Given the description of an element on the screen output the (x, y) to click on. 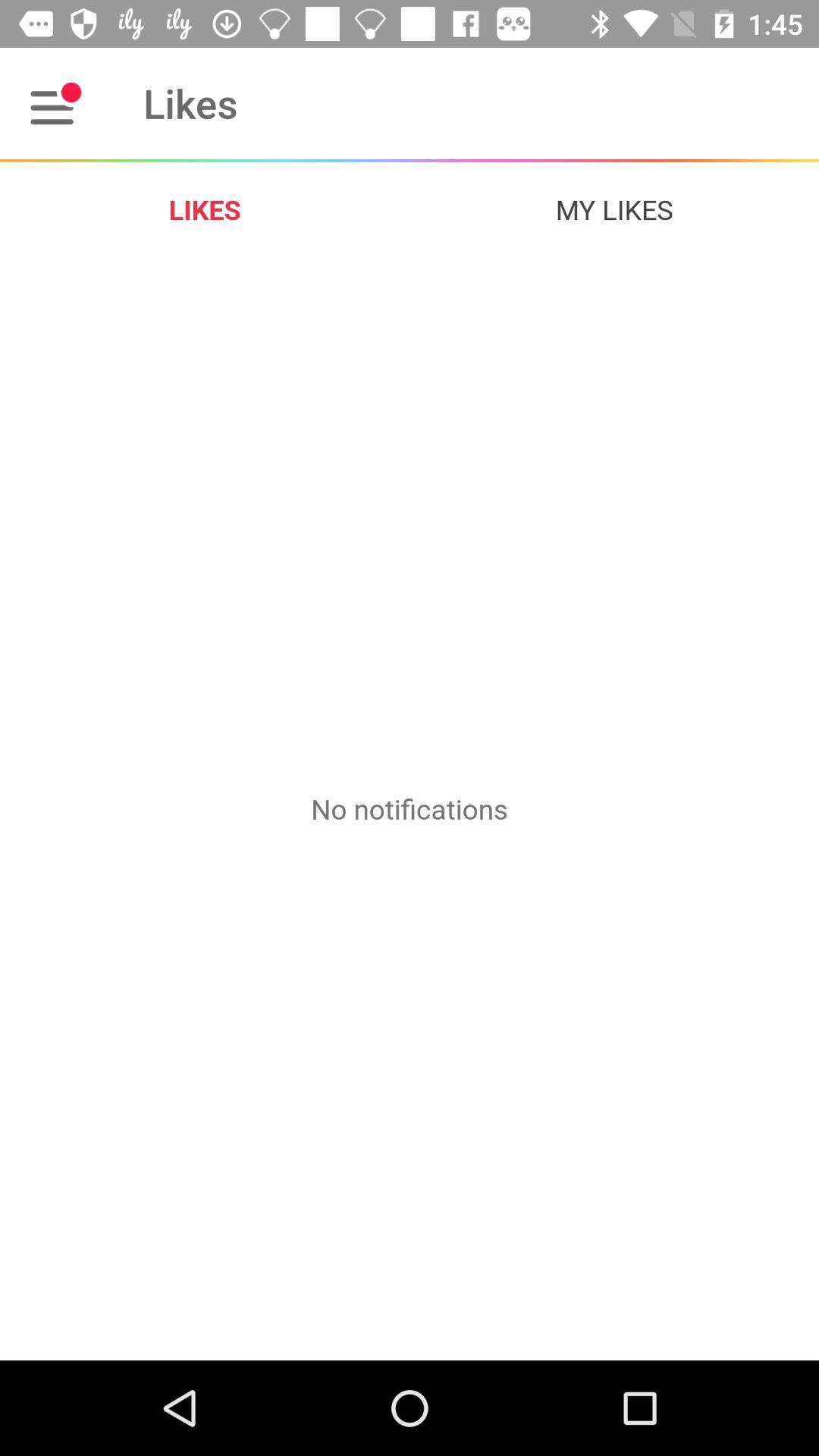
press the item above the no notifications item (614, 209)
